Given the description of an element on the screen output the (x, y) to click on. 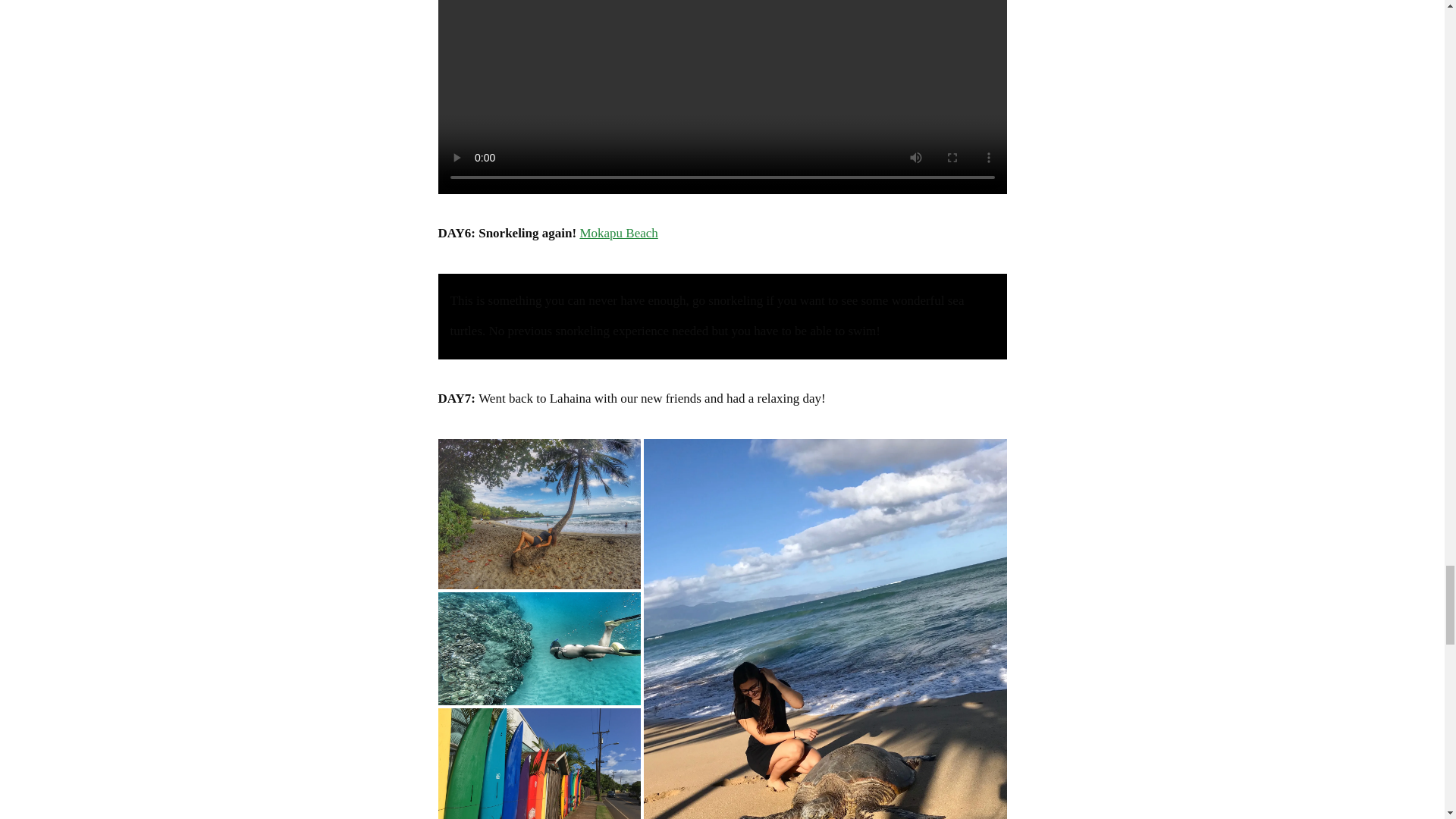
Mokapu Beach (618, 233)
